Given the description of an element on the screen output the (x, y) to click on. 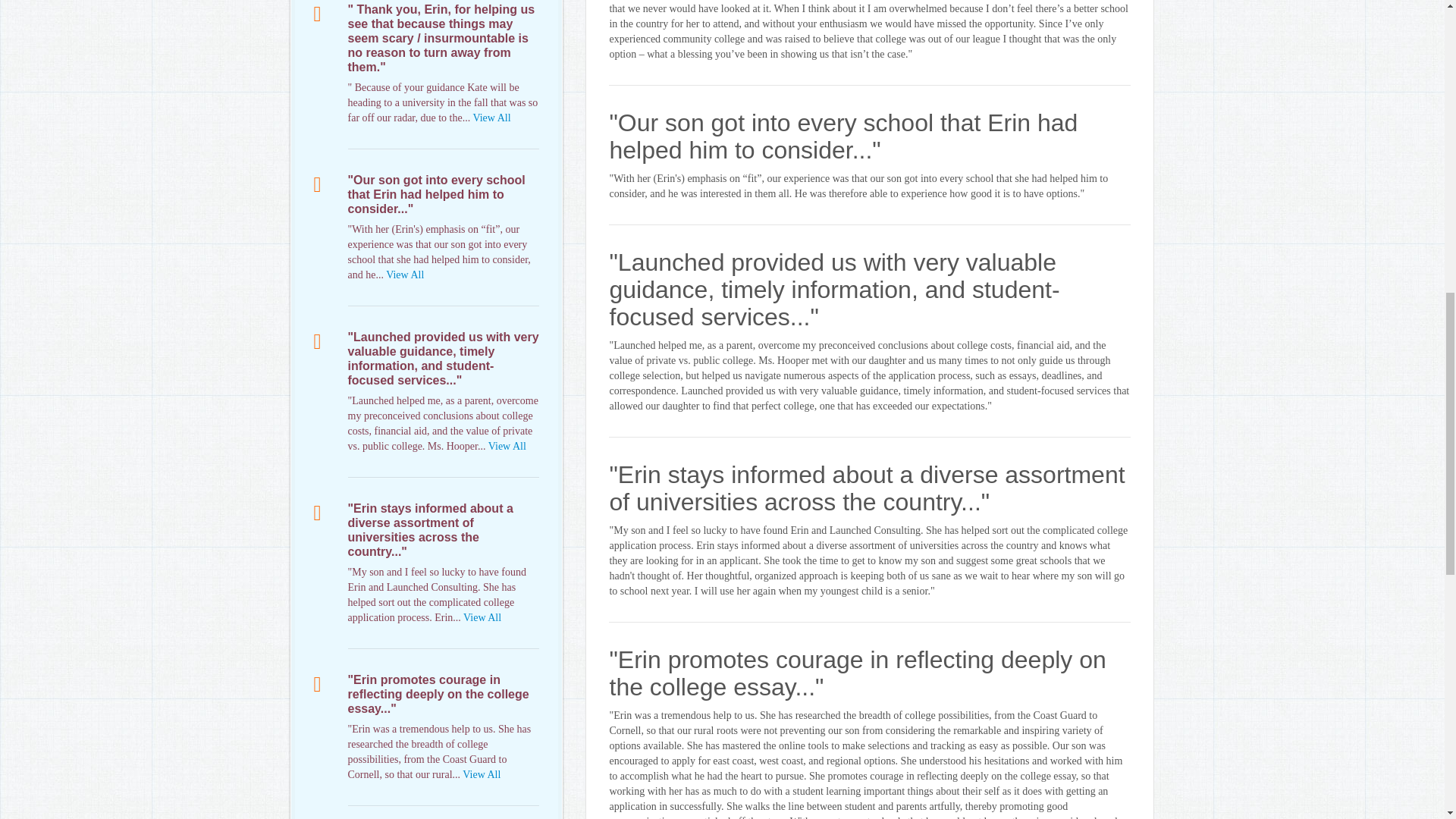
View All (481, 774)
View All (491, 117)
View All (481, 617)
View All (506, 446)
View All (404, 274)
